Given the description of an element on the screen output the (x, y) to click on. 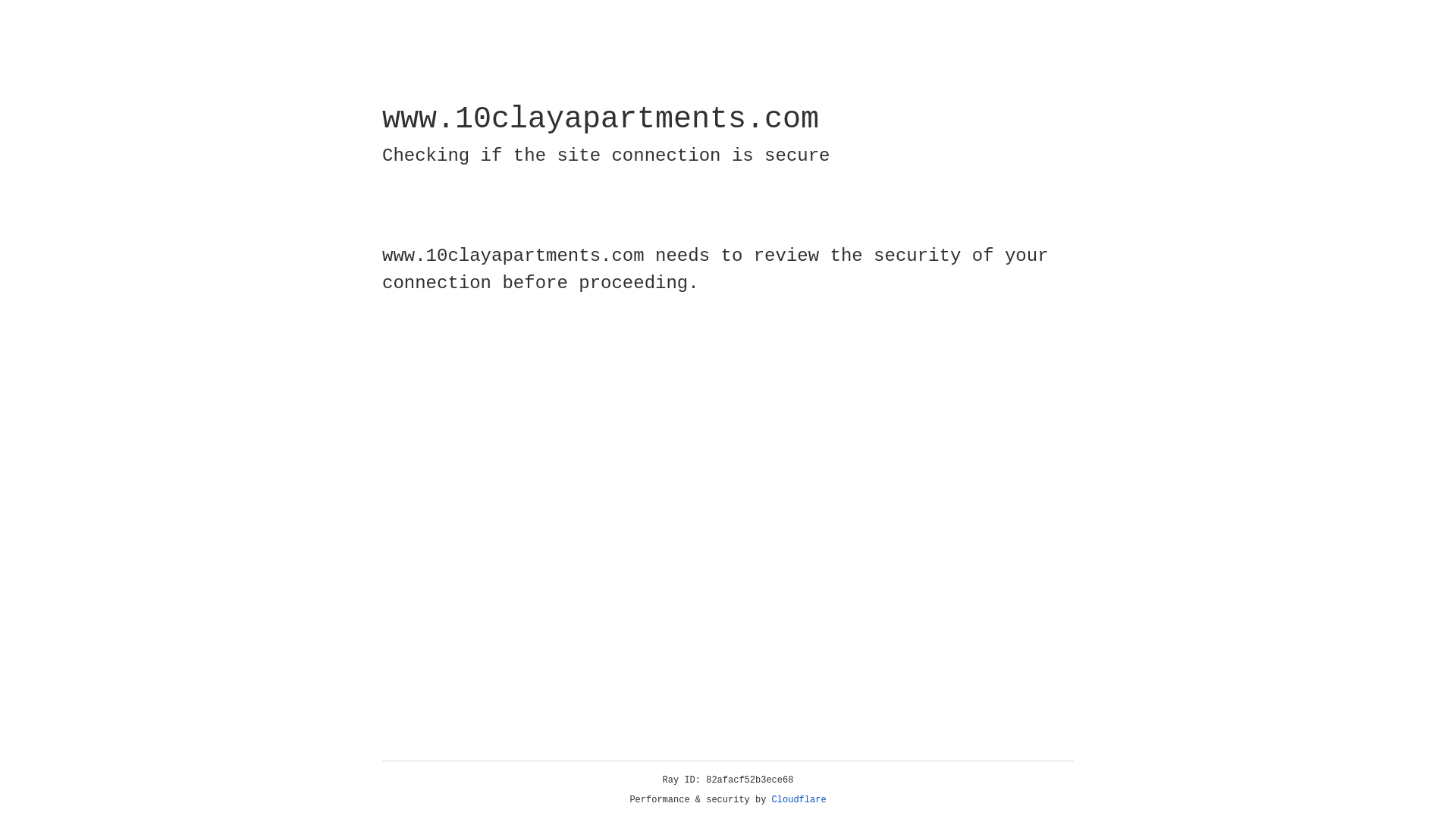
Cloudflare Element type: text (798, 799)
